Given the description of an element on the screen output the (x, y) to click on. 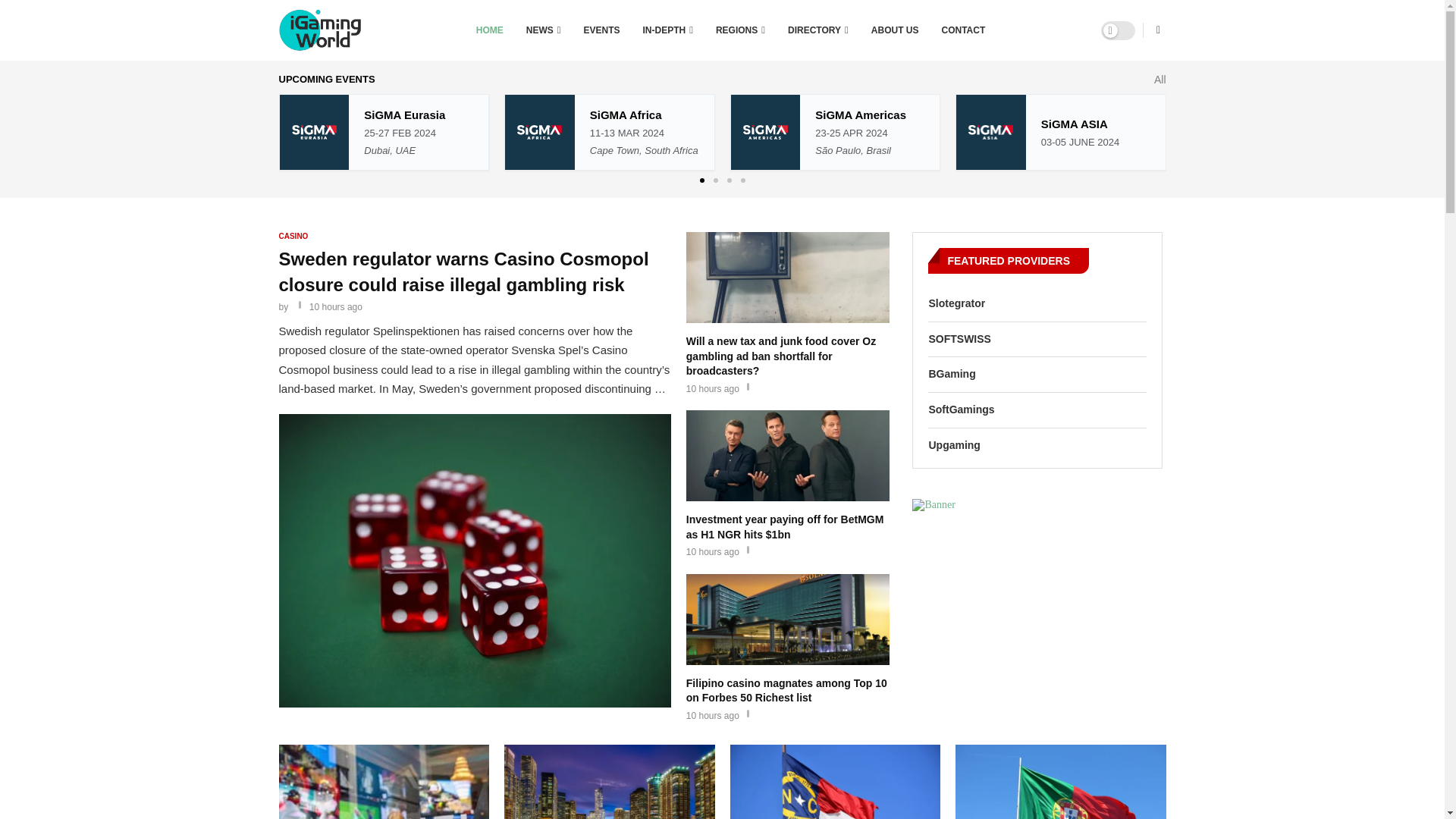
Slotegrator (1037, 304)
